Given the description of an element on the screen output the (x, y) to click on. 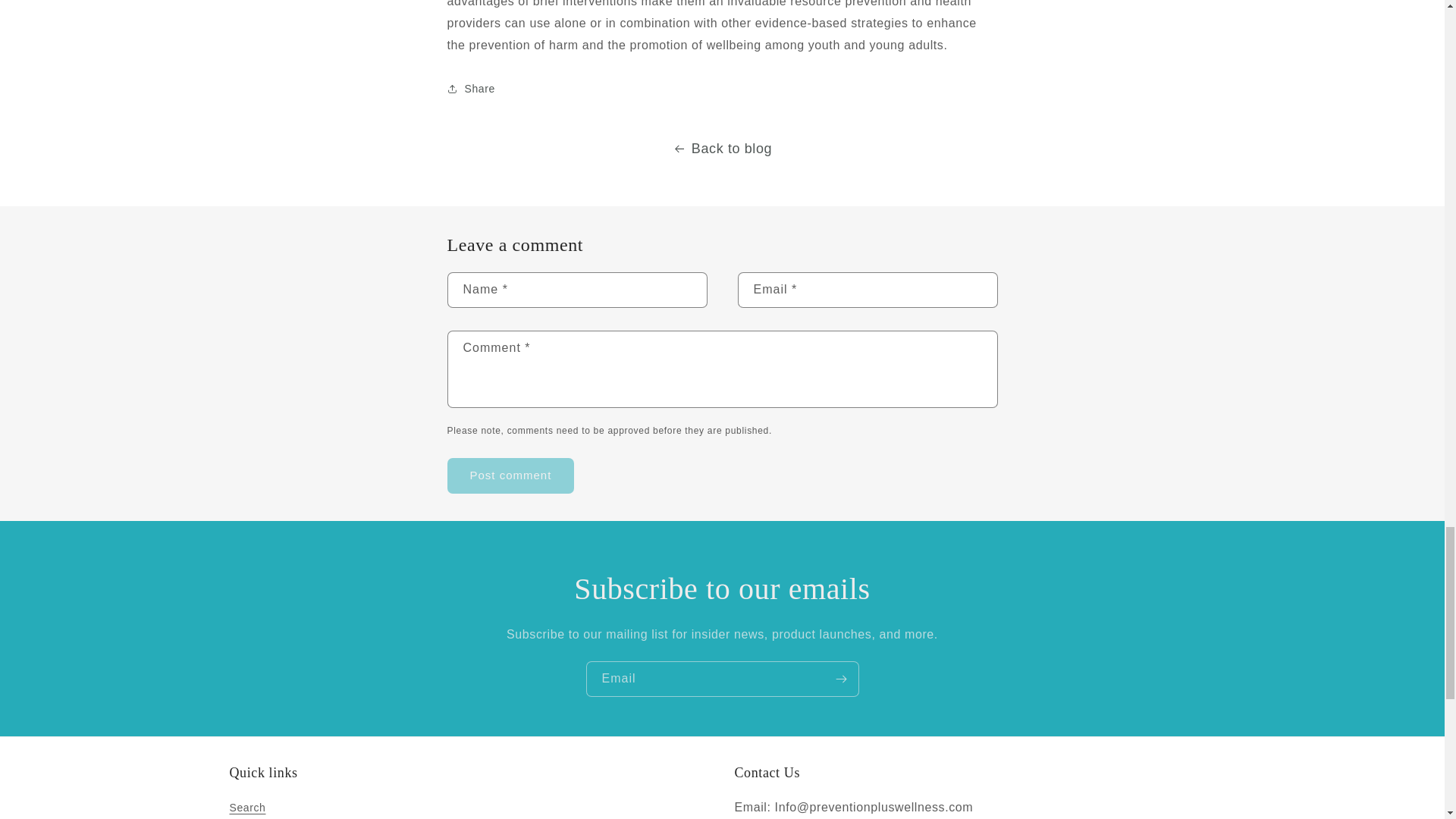
Post comment (510, 475)
